Given the description of an element on the screen output the (x, y) to click on. 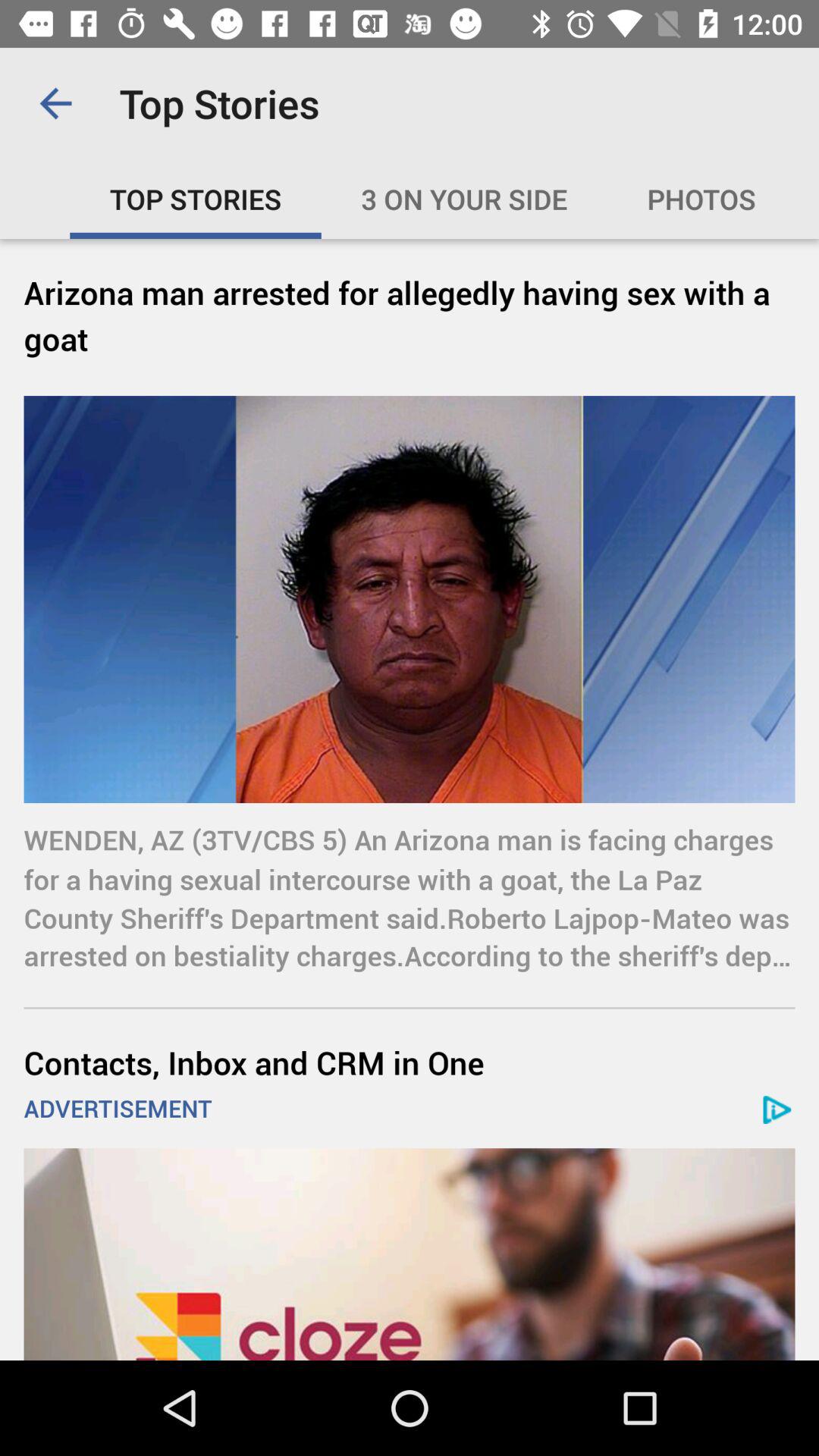
open advertisement link (409, 1254)
